Given the description of an element on the screen output the (x, y) to click on. 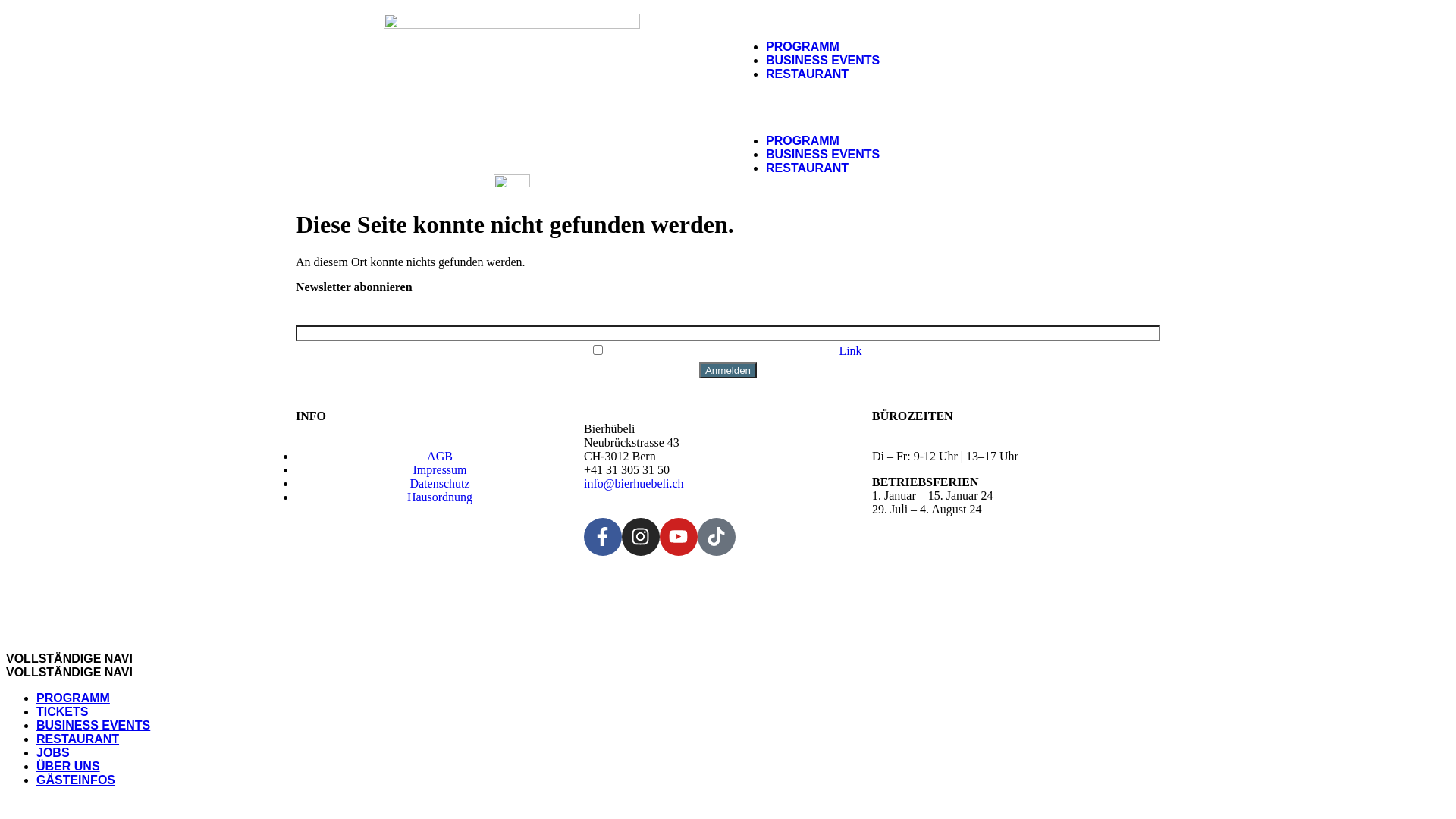
Anmelden Element type: text (727, 370)
PROGRAMM Element type: text (802, 140)
Datenschutz Element type: text (439, 482)
Hausordnung Element type: text (439, 496)
BUSINESS EVENTS Element type: text (93, 724)
TICKETS Element type: text (61, 711)
RESTAURANT Element type: text (77, 738)
RESTAURANT Element type: text (806, 72)
info@bierhuebeli.ch Element type: text (633, 482)
BUSINESS EVENTS Element type: text (822, 153)
AGB Element type: text (439, 455)
JOBS Element type: text (52, 752)
Link Element type: text (849, 350)
BUSINESS EVENTS Element type: text (822, 59)
PROGRAMM Element type: text (802, 45)
Impressum Element type: text (439, 469)
PROGRAMM Element type: text (72, 697)
RESTAURANT Element type: text (806, 167)
